Given the description of an element on the screen output the (x, y) to click on. 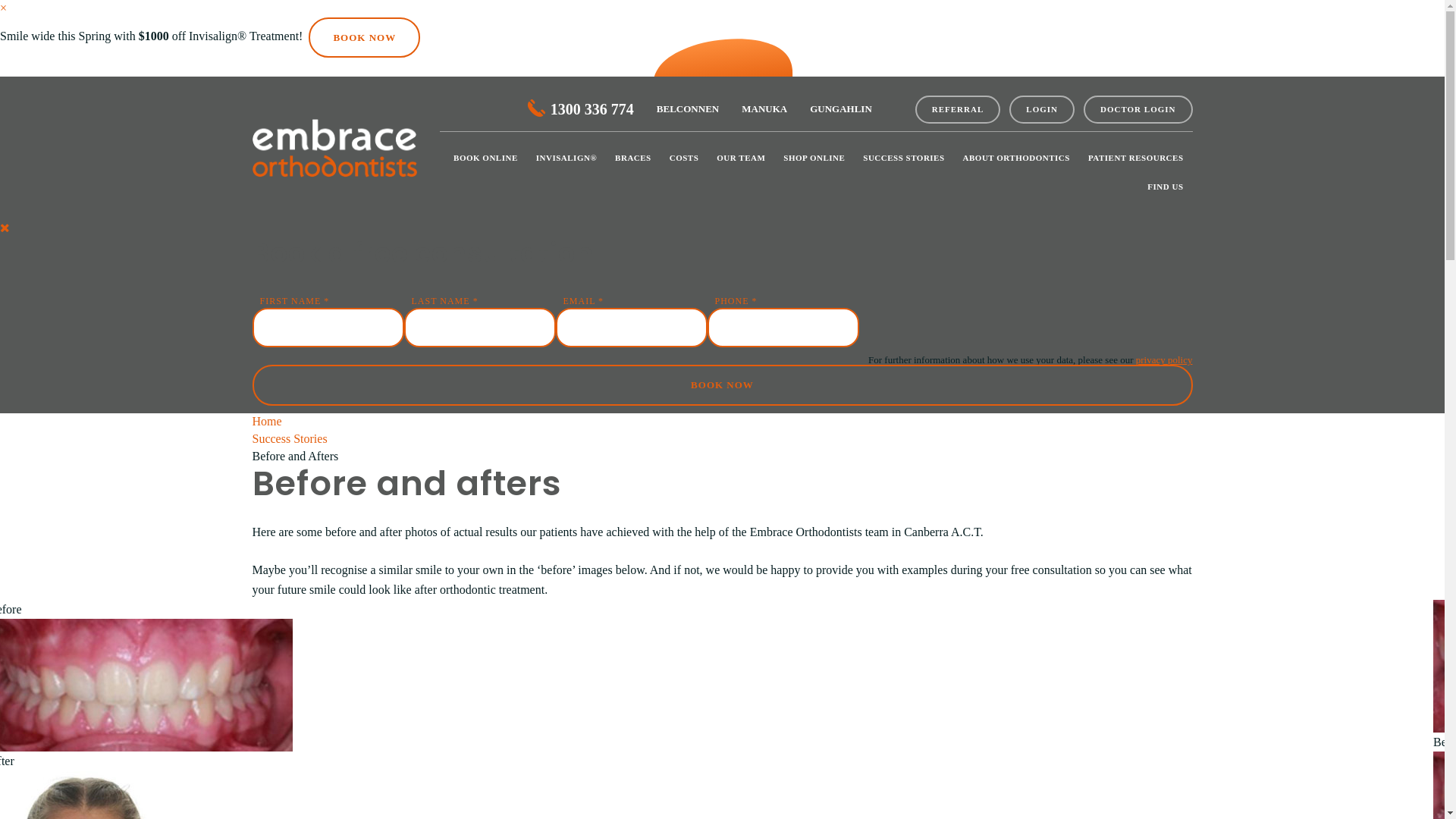
BRACES Element type: text (632, 157)
privacy policy Element type: text (1163, 359)
BELCONNEN Element type: text (687, 109)
OUR TEAM Element type: text (740, 157)
REFERRAL Element type: text (958, 109)
Success Stories Element type: text (288, 438)
ABOUT ORTHODONTICS Element type: text (1016, 157)
DOCTOR LOGIN Element type: text (1137, 109)
MANUKA Element type: text (764, 109)
BOOK NOW Element type: text (364, 37)
GUNGAHLIN Element type: text (840, 109)
Embrace Orthodontists Element type: hover (334, 148)
BOOK NOW Element type: text (721, 384)
PATIENT RESOURCES Element type: text (1135, 157)
LOGIN Element type: text (1041, 109)
1300 336 774 Element type: text (580, 109)
Home Element type: text (266, 420)
BOOK ONLINE Element type: text (485, 157)
COSTS Element type: text (684, 157)
SHOP ONLINE Element type: text (813, 157)
FIND US Element type: text (1164, 186)
SUCCESS STORIES Element type: text (903, 157)
